Given the description of an element on the screen output the (x, y) to click on. 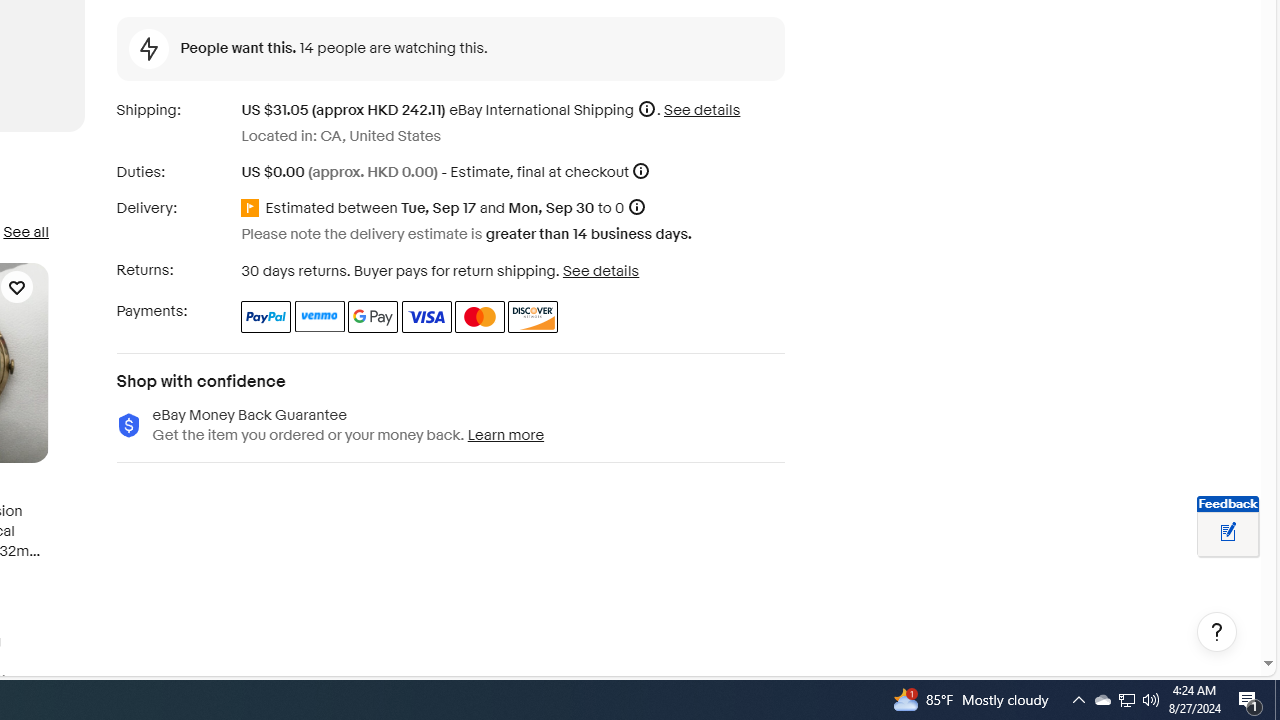
Delivery alert flag (253, 209)
